Given the description of an element on the screen output the (x, y) to click on. 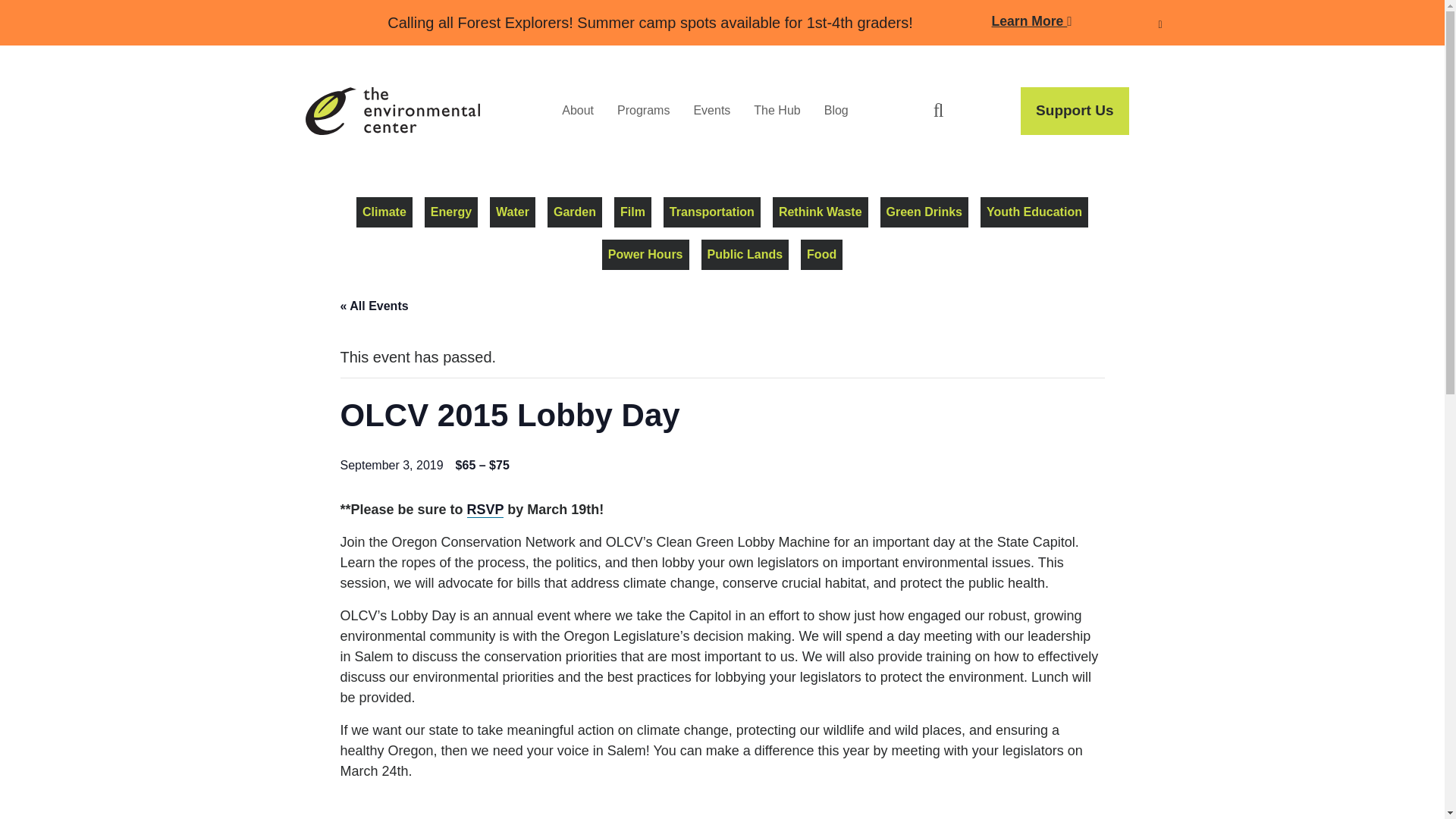
Support Us (1074, 110)
Learn More (1031, 21)
Events (711, 110)
About (577, 110)
RSVP (485, 509)
Programs (643, 110)
Support Us (1074, 110)
Blog (836, 110)
The Hub (776, 110)
